Given the description of an element on the screen output the (x, y) to click on. 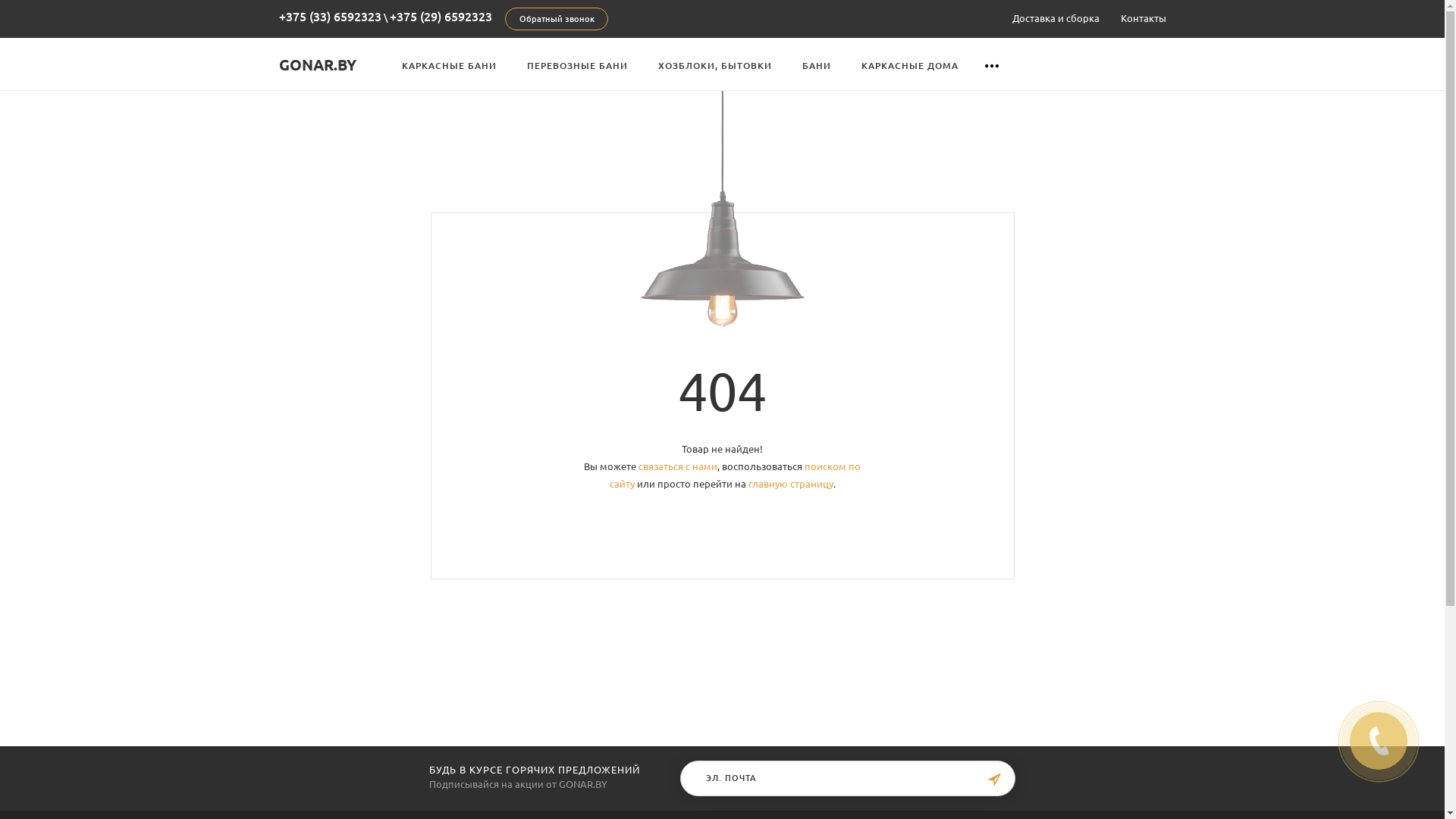
+375 (33) 6592323 Element type: text (330, 16)
GONAR.BY Element type: text (317, 64)
+375 (29) 6592323 Element type: text (440, 16)
